Given the description of an element on the screen output the (x, y) to click on. 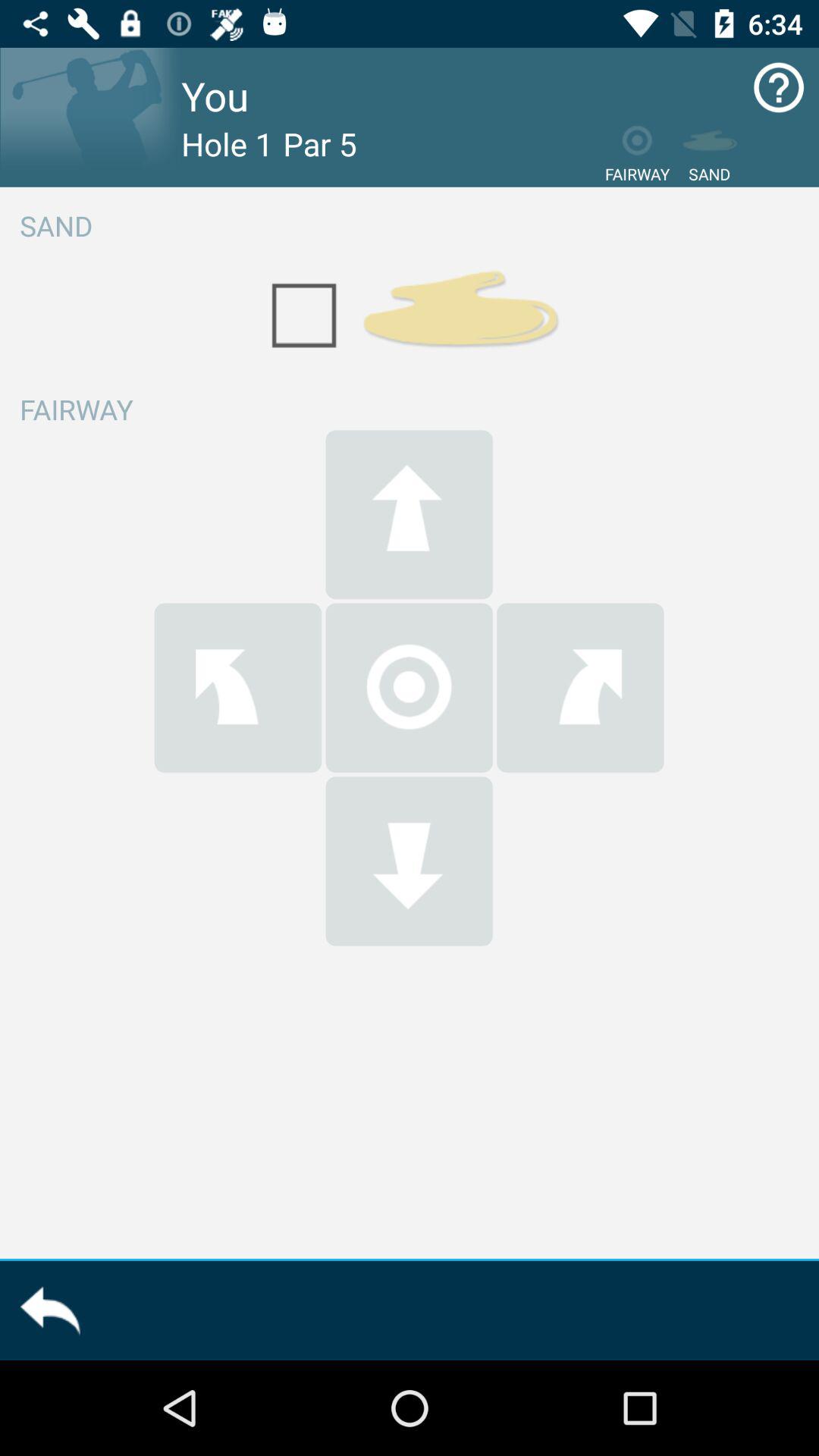
turn right button (580, 687)
